Given the description of an element on the screen output the (x, y) to click on. 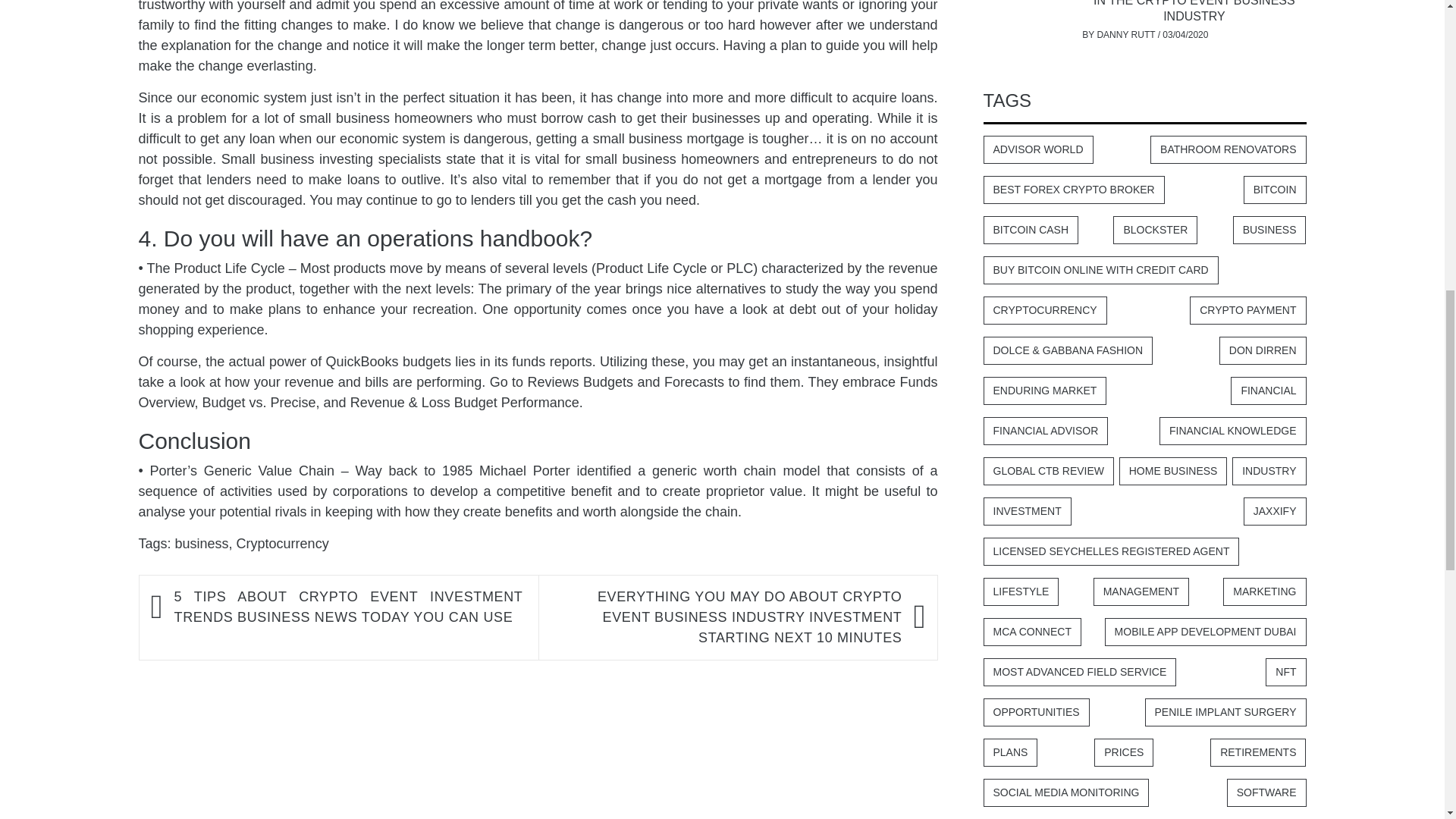
Cryptocurrency (282, 543)
business (201, 543)
